Given the description of an element on the screen output the (x, y) to click on. 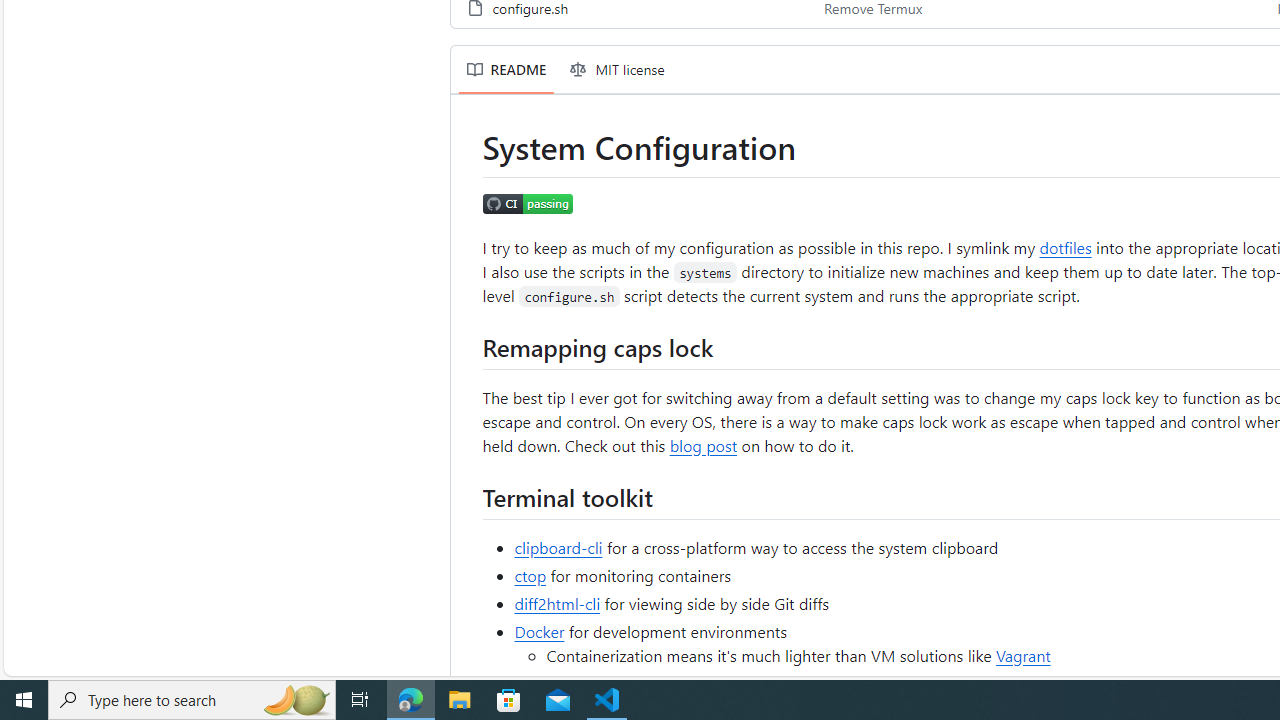
ctop (530, 574)
MIT license (617, 69)
